Given the description of an element on the screen output the (x, y) to click on. 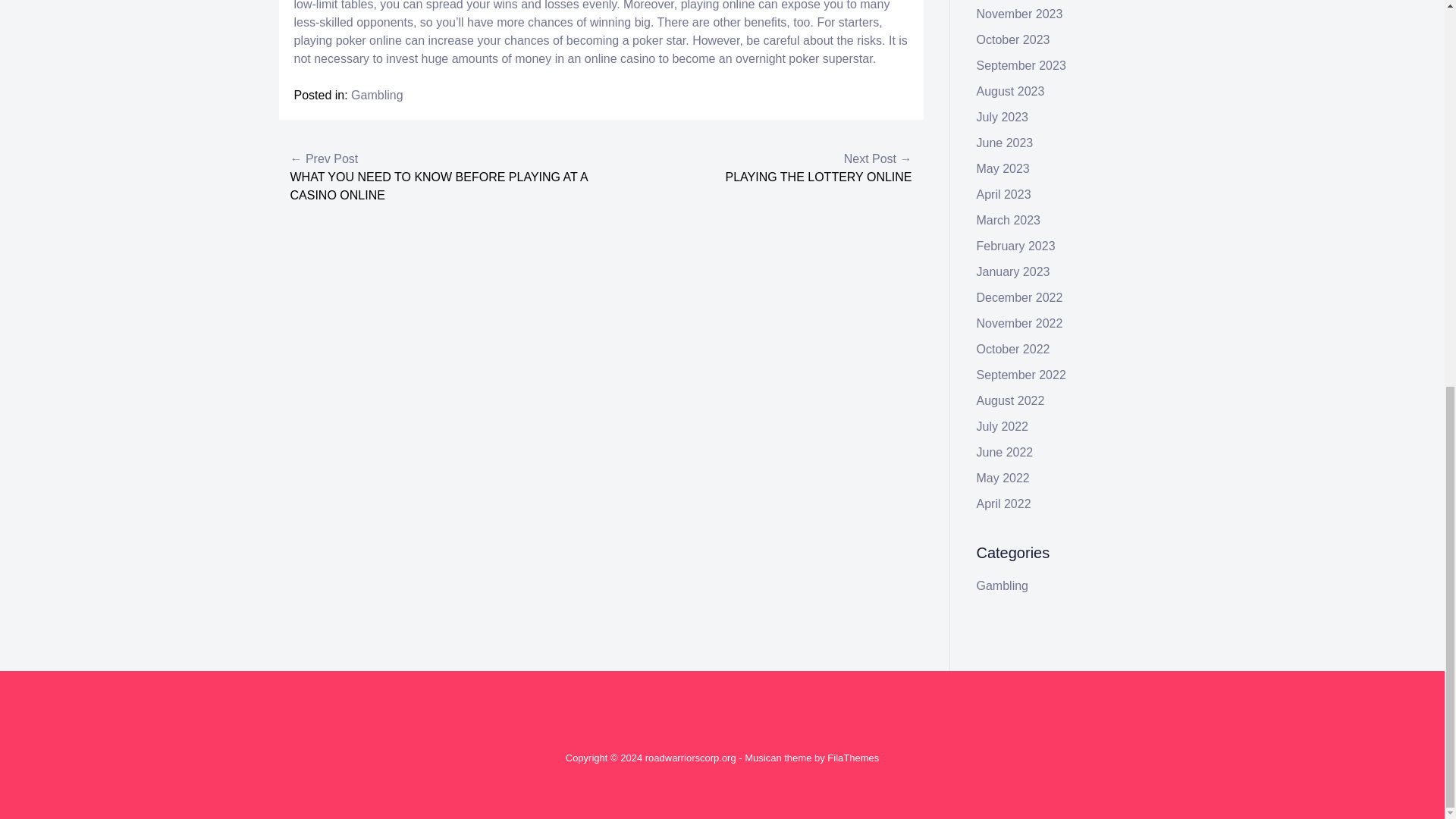
March 2023 (1008, 219)
June 2023 (1004, 142)
May 2023 (1002, 168)
July 2022 (1002, 426)
September 2023 (1020, 65)
July 2023 (1002, 116)
Gambling (376, 94)
January 2023 (1012, 271)
November 2022 (1019, 323)
roadwarriorscorp.org (690, 757)
